Given the description of an element on the screen output the (x, y) to click on. 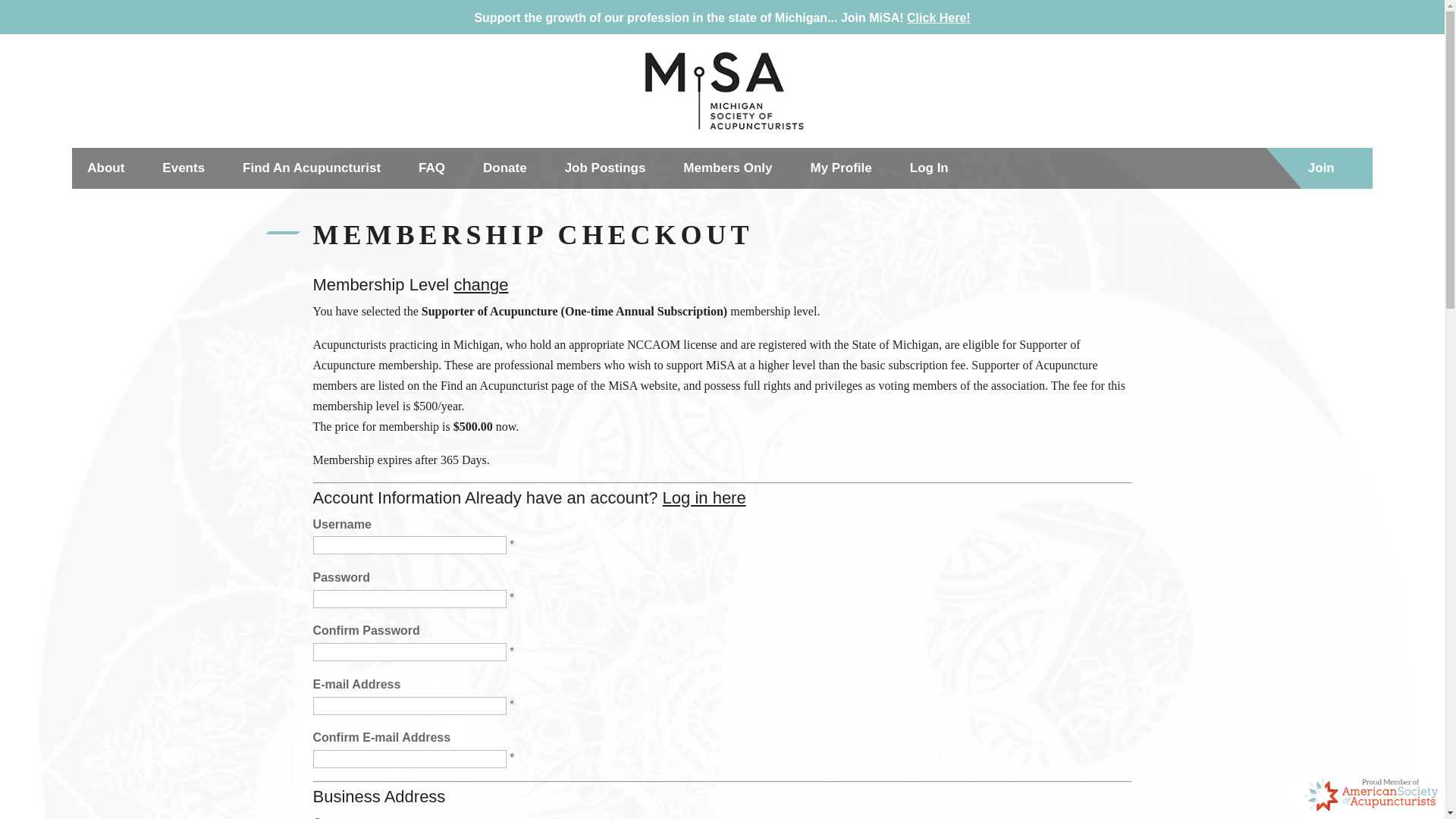
Donate (505, 168)
Job Postings (605, 168)
Join (1321, 168)
Required Field (511, 757)
About (105, 168)
Find An Acupuncturist (311, 168)
Members Only (726, 168)
Required Field (511, 597)
Events (183, 168)
Log In (929, 168)
My Profile (841, 168)
Required Field (511, 544)
Required Field (511, 651)
FAQ (432, 168)
change (480, 284)
